Given the description of an element on the screen output the (x, y) to click on. 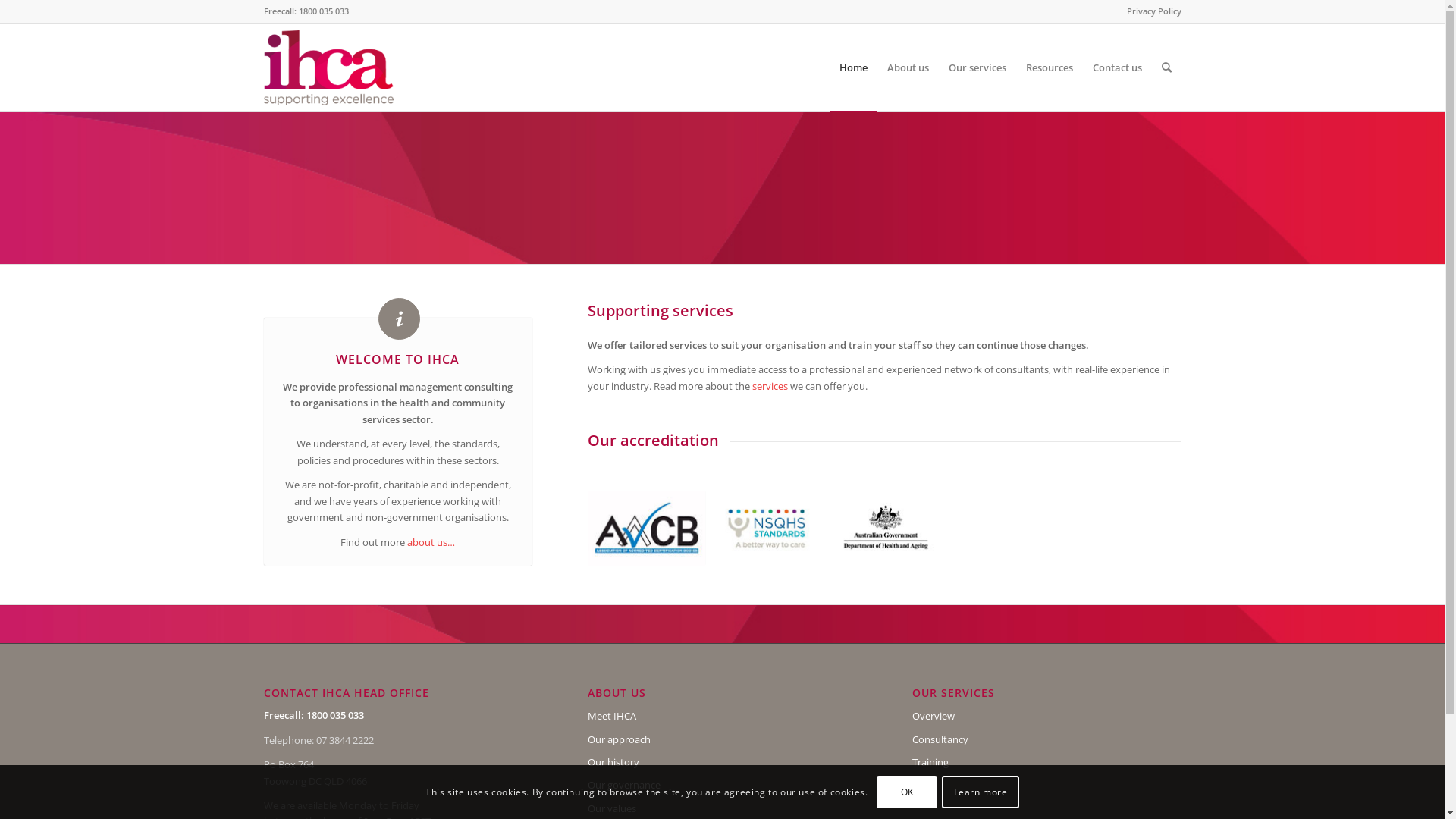
IHCA_Logo Element type: hover (329, 67)
Learn more Element type: text (979, 791)
Our approach Element type: text (721, 739)
OK Element type: text (906, 791)
Our history Element type: text (721, 762)
Consultancy Element type: text (1046, 739)
Home Element type: text (853, 67)
Our governance Element type: text (721, 785)
About us Element type: text (907, 67)
Training Element type: text (1046, 762)
services Element type: text (769, 385)
Our services Element type: text (977, 67)
Resources Element type: text (1049, 67)
Meet IHCA Element type: text (721, 716)
Contact us Element type: text (1116, 67)
Privacy Policy Element type: text (1153, 10)
Overview Element type: text (1046, 716)
